Given the description of an element on the screen output the (x, y) to click on. 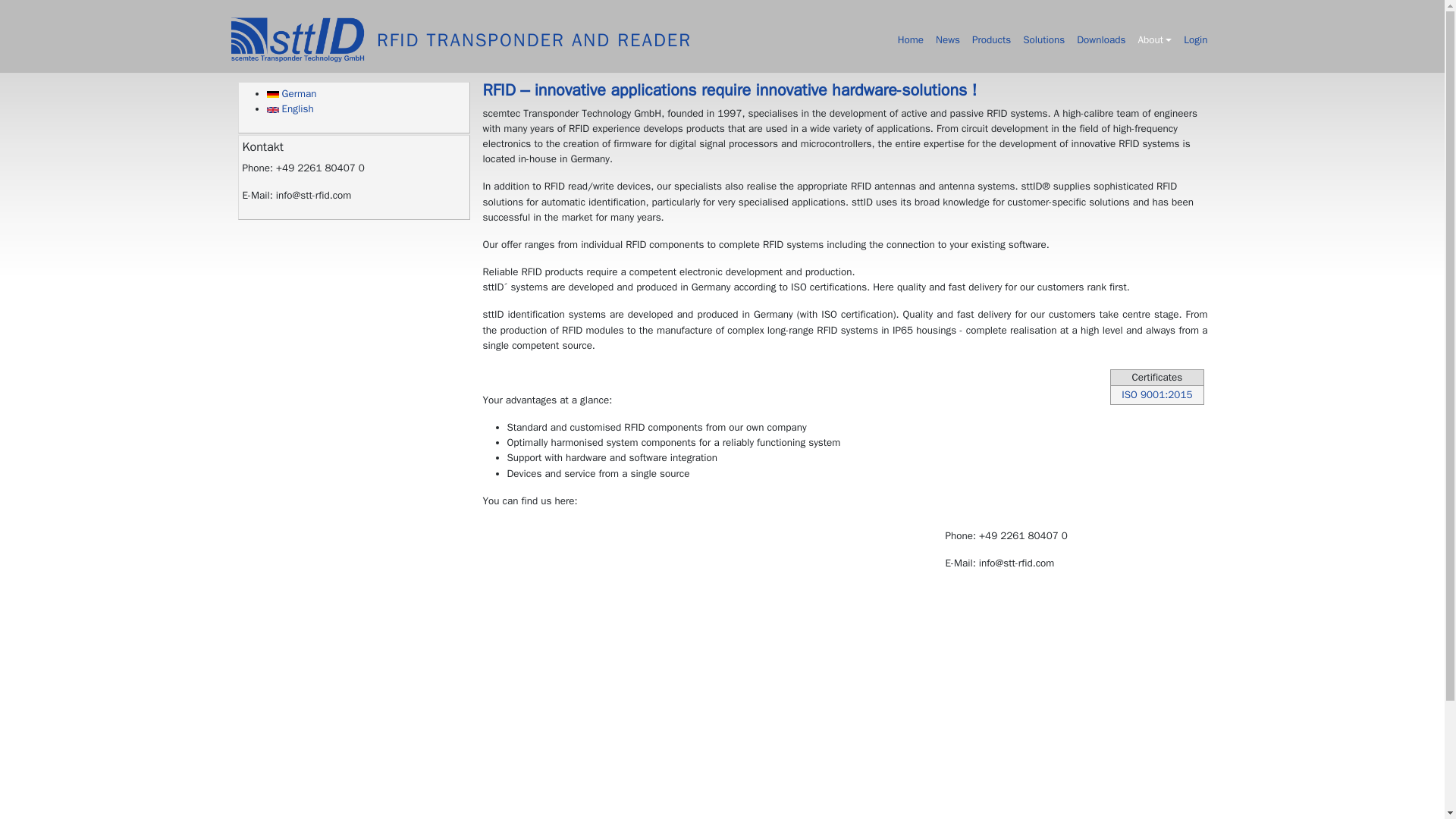
ISO 9001:2015 (1156, 394)
RFID TRANSPONDER AND READER (534, 39)
About (1154, 40)
Home (302, 40)
Login (1194, 40)
Home (534, 39)
Downloads (1100, 40)
News (948, 40)
Skip to main content (51, 9)
English (272, 110)
German (291, 92)
Solutions (1043, 40)
Home (910, 40)
Products (991, 40)
Expand menu About (1154, 40)
